Given the description of an element on the screen output the (x, y) to click on. 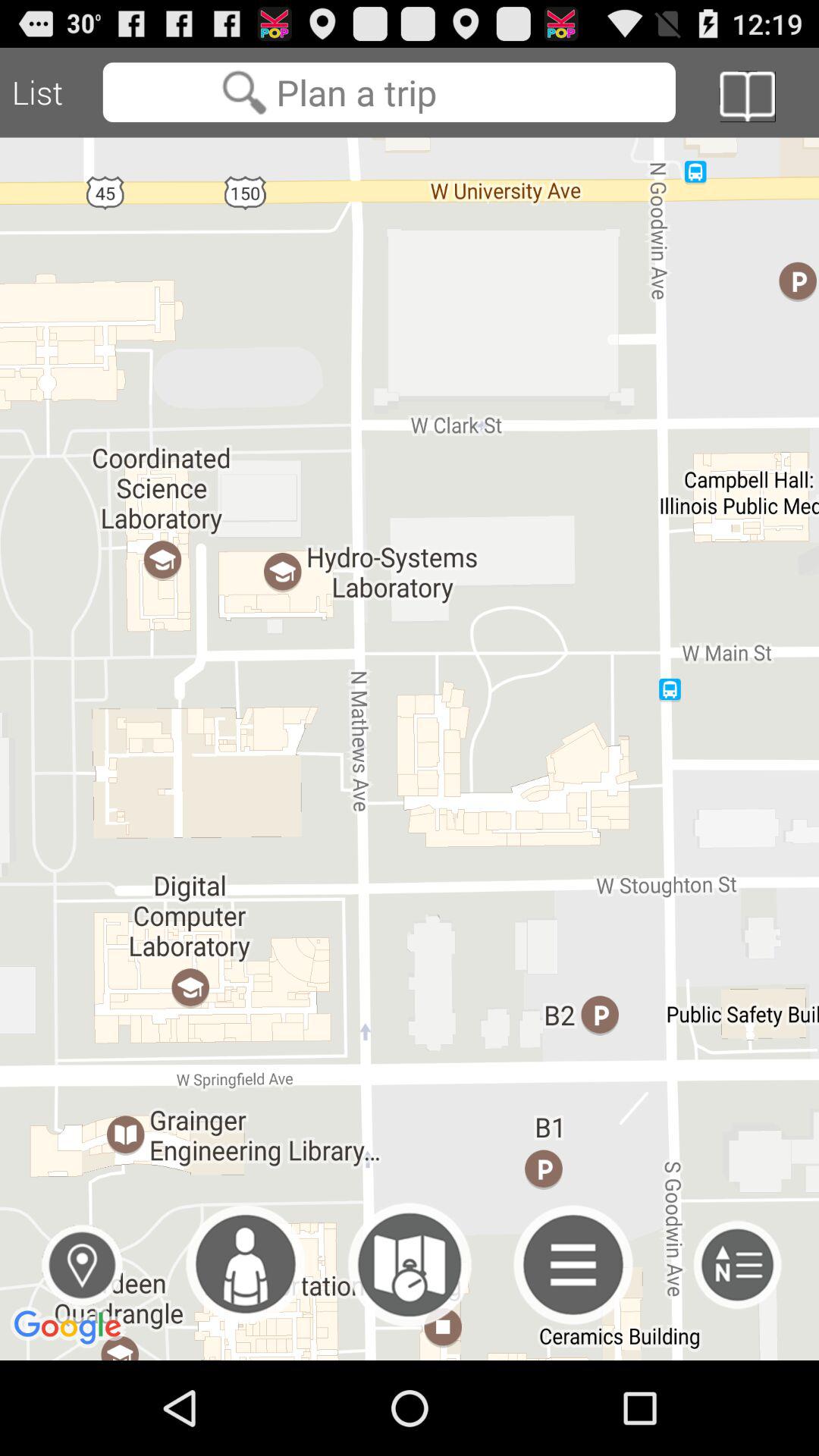
jump to list icon (51, 92)
